Given the description of an element on the screen output the (x, y) to click on. 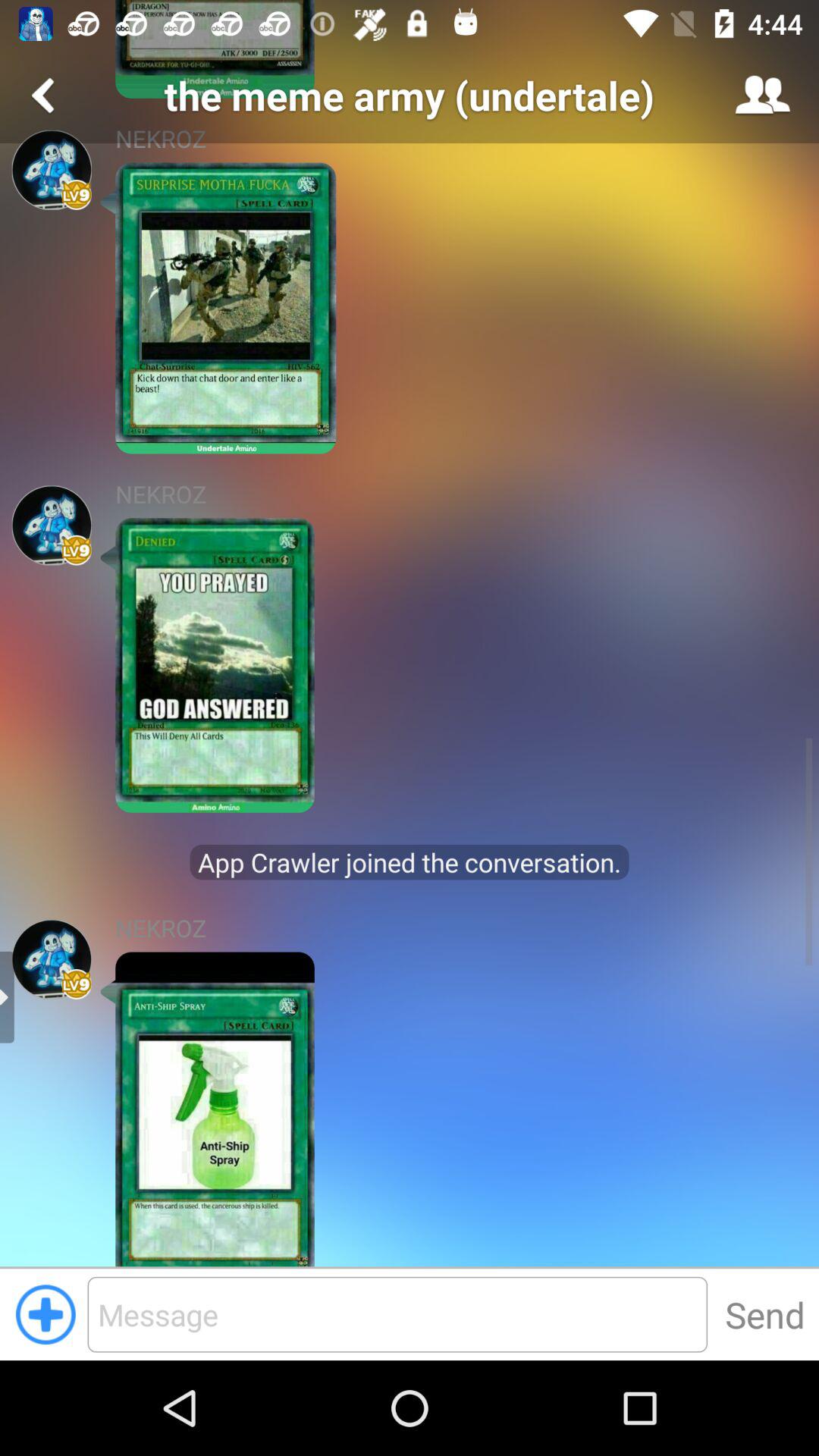
go back to previous manu (45, 95)
